Given the description of an element on the screen output the (x, y) to click on. 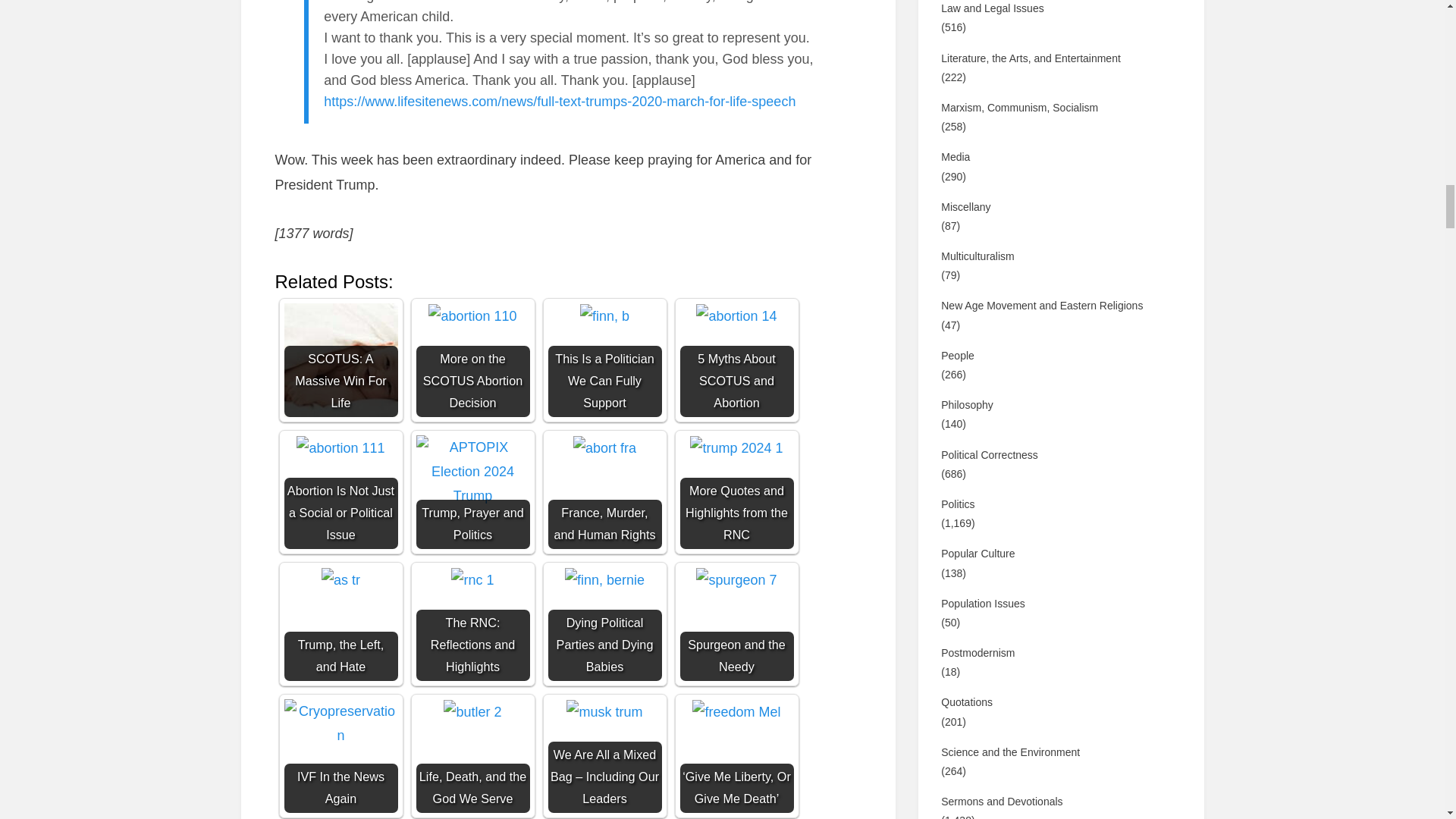
Spurgeon and the Needy (736, 623)
Trump, the Left, and Hate (340, 580)
Abortion Is Not Just a Social or Political Issue (340, 447)
France, Murder, and Human Rights (604, 447)
The RNC: Reflections and Highlights (472, 580)
Spurgeon and the Needy (735, 580)
SCOTUS: A Massive Win For Life (340, 359)
IVF In the News Again (340, 723)
More Quotes and Highlights from the RNC (736, 491)
This Is a Politician We Can Fully Support (603, 315)
Trump, Prayer and Politics (471, 471)
Life, Death, and the God We Serve (471, 756)
France, Murder, and Human Rights (604, 491)
Trump, the Left, and Hate (340, 623)
5 Myths About SCOTUS and Abortion (735, 315)
